Given the description of an element on the screen output the (x, y) to click on. 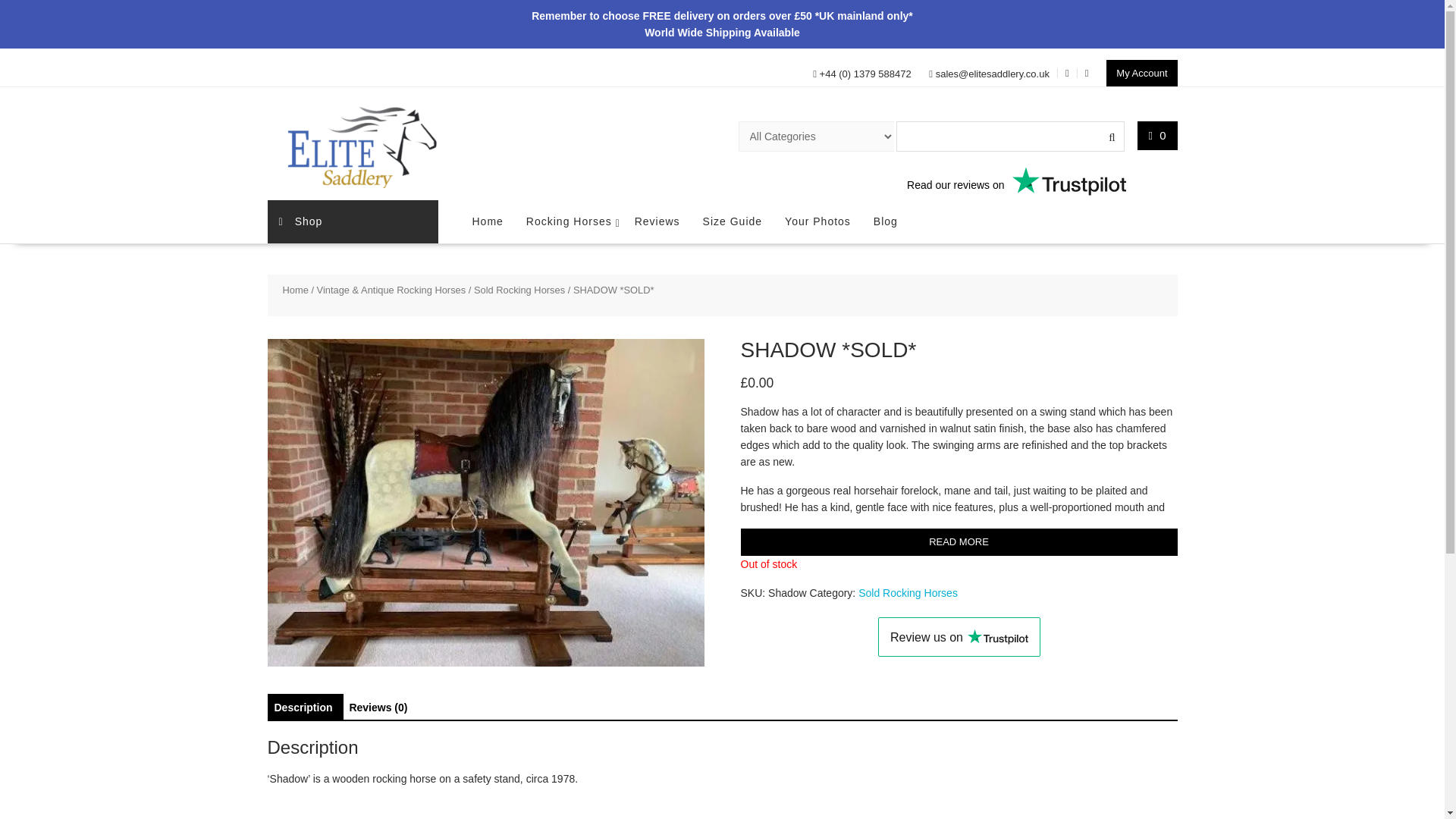
Elite Saddlery (358, 145)
0 (1157, 134)
Read our reviews on (848, 180)
Read our reviews on (1068, 180)
My Account (1141, 72)
Read our reviews on (848, 180)
Shop (352, 221)
